Given the description of an element on the screen output the (x, y) to click on. 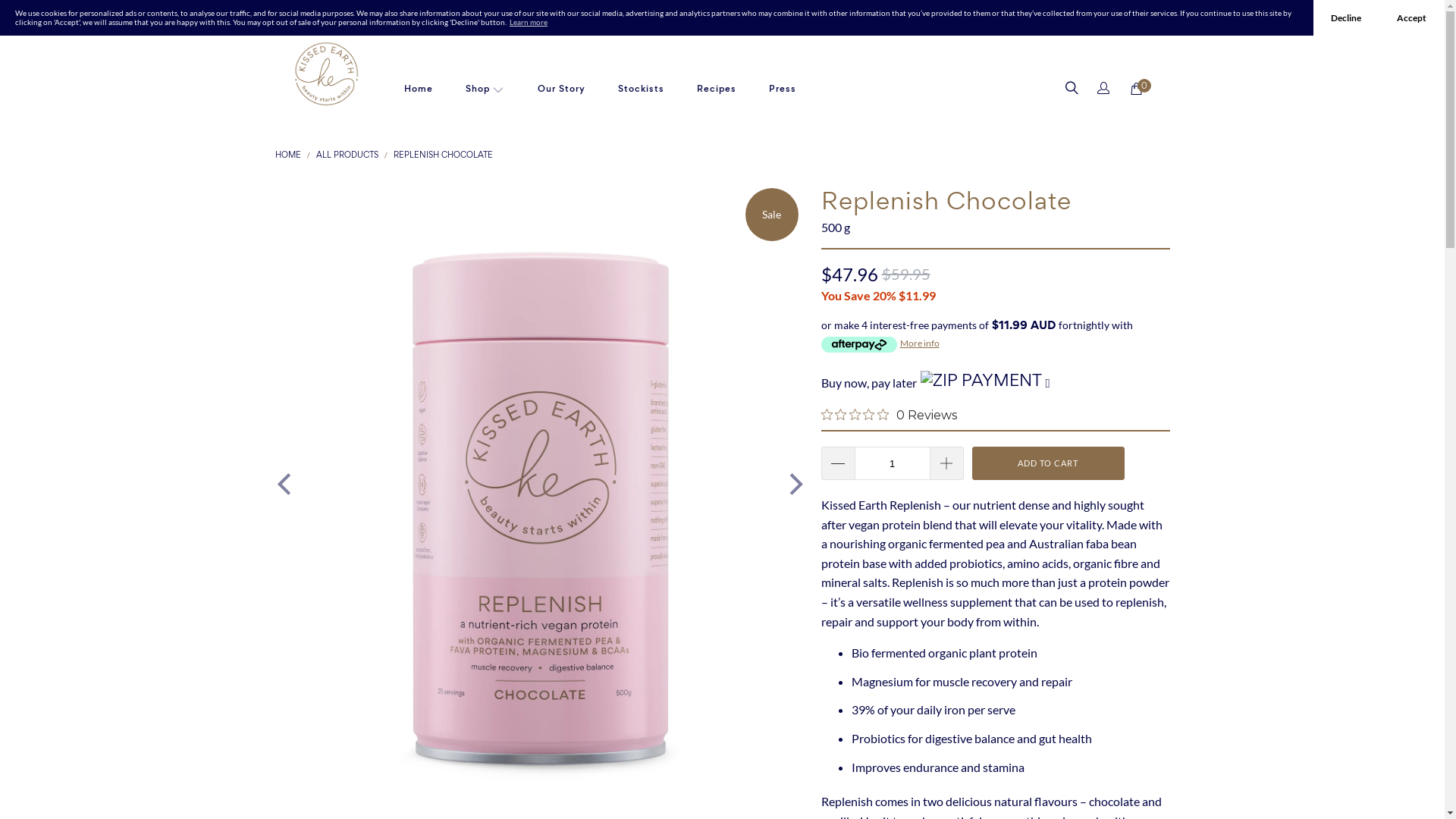
My Account  Element type: hover (1101, 89)
HOME Element type: text (287, 154)
Decline Element type: text (1346, 17)
Kissed Earth Element type: hover (326, 74)
ALL PRODUCTS Element type: text (346, 154)
ADD TO CART Element type: text (1048, 463)
Press Element type: text (782, 89)
Stockists Element type: text (641, 89)
Our Story Element type: text (561, 89)
Search Element type: hover (1070, 89)
Learn more Element type: text (528, 21)
Home Element type: text (417, 89)
More info Element type: text (918, 341)
Recipes Element type: text (716, 89)
Accept Element type: text (1411, 17)
0 Element type: text (1135, 87)
Shop Element type: text (485, 89)
REPLENISH CHOCOLATE Element type: text (442, 154)
